Given the description of an element on the screen output the (x, y) to click on. 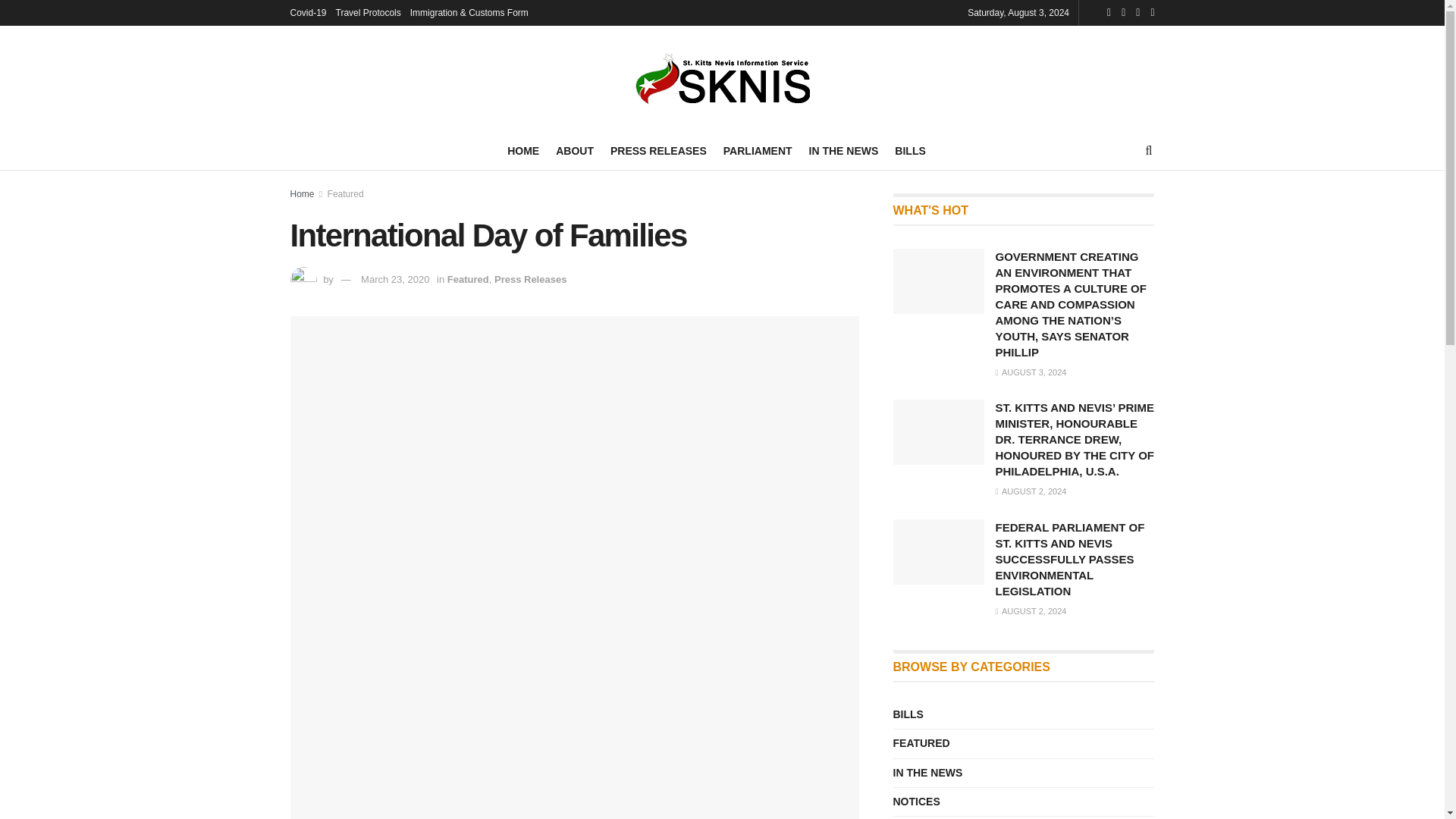
Home (301, 194)
Featured (345, 194)
Featured (467, 279)
Press Releases (530, 279)
Covid-19 (307, 12)
IN THE NEWS (844, 150)
Travel Protocols (368, 12)
March 23, 2020 (395, 279)
ABOUT (575, 150)
PARLIAMENT (757, 150)
